Given the description of an element on the screen output the (x, y) to click on. 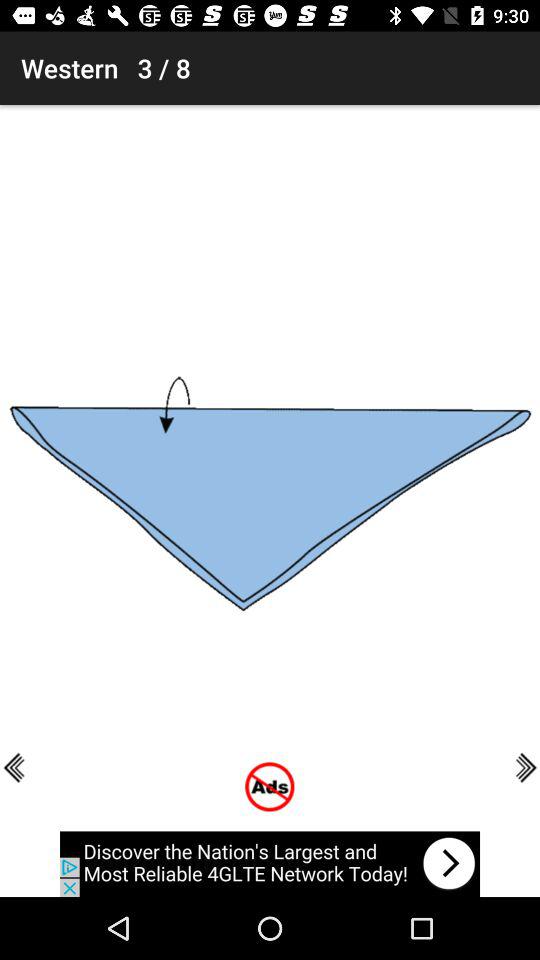
discover the nation 's largest and most reliable 4glet network today (270, 864)
